Given the description of an element on the screen output the (x, y) to click on. 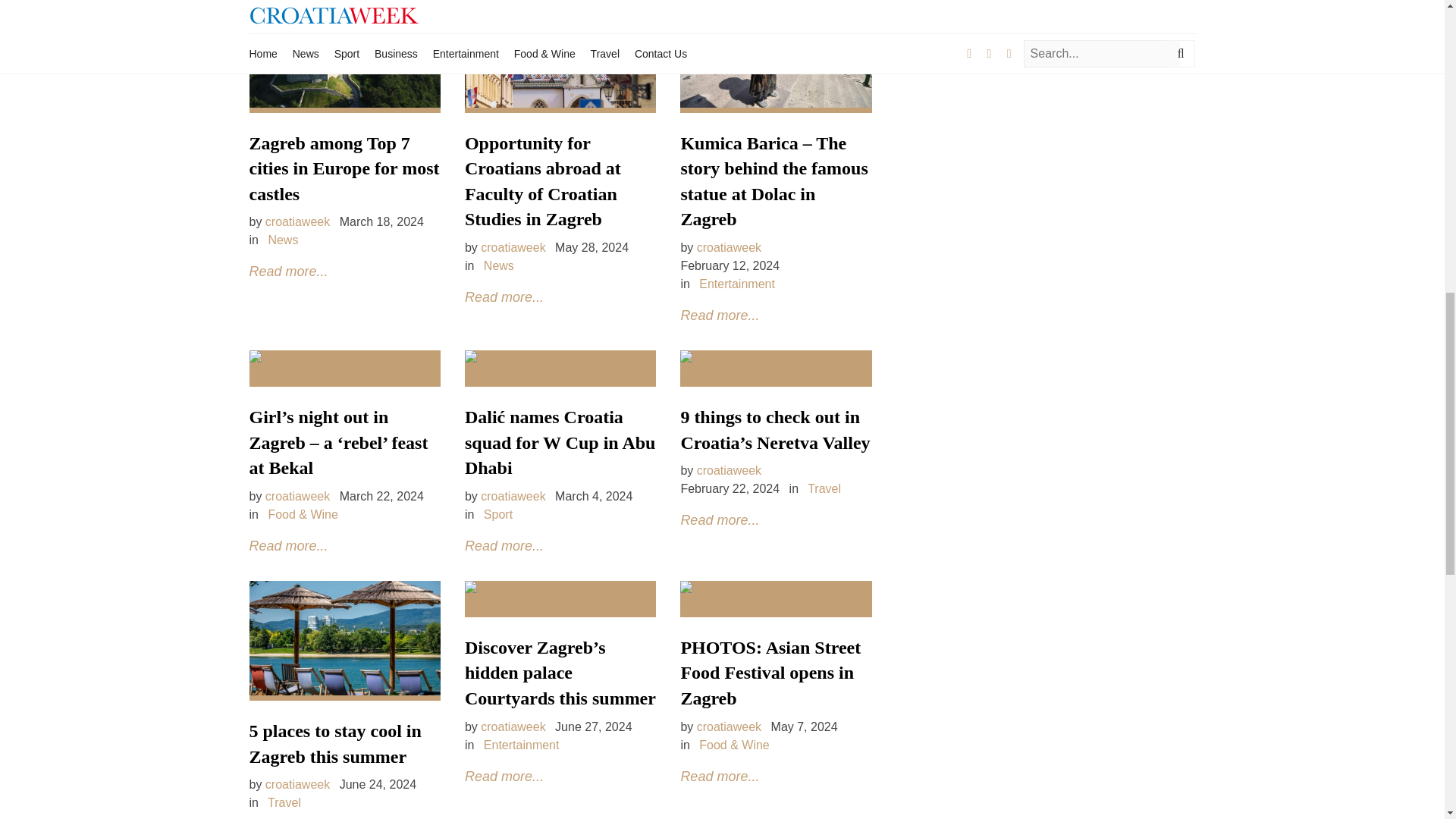
Entertainment (736, 283)
croatiaweek (512, 246)
croatiaweek (729, 246)
Read more... (503, 296)
croatiaweek (297, 221)
Zagreb among Top 7 cities in Europe for most castles (343, 168)
News (498, 265)
News (282, 239)
Read more... (287, 271)
